Given the description of an element on the screen output the (x, y) to click on. 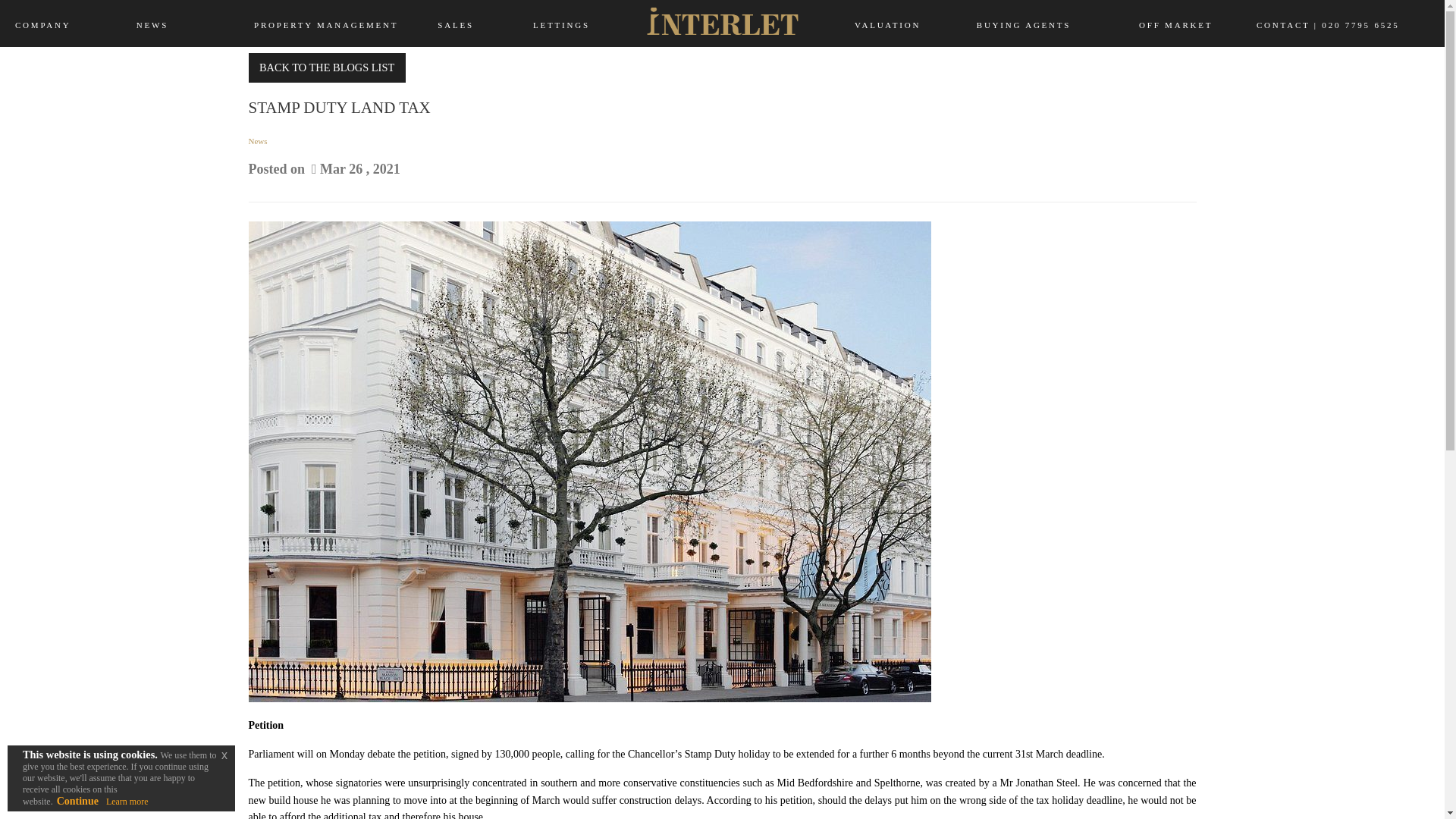
SALES (456, 24)
NEWS (152, 24)
BUYING AGENTS (974, 20)
OFF MARKET (1140, 20)
BACK TO THE BLOGS LIST (327, 67)
COMPANY (68, 20)
COMPANY (68, 20)
OFF MARKET (1140, 20)
SALES (539, 20)
PROPERTY MANAGEMENT (366, 20)
